Given the description of an element on the screen output the (x, y) to click on. 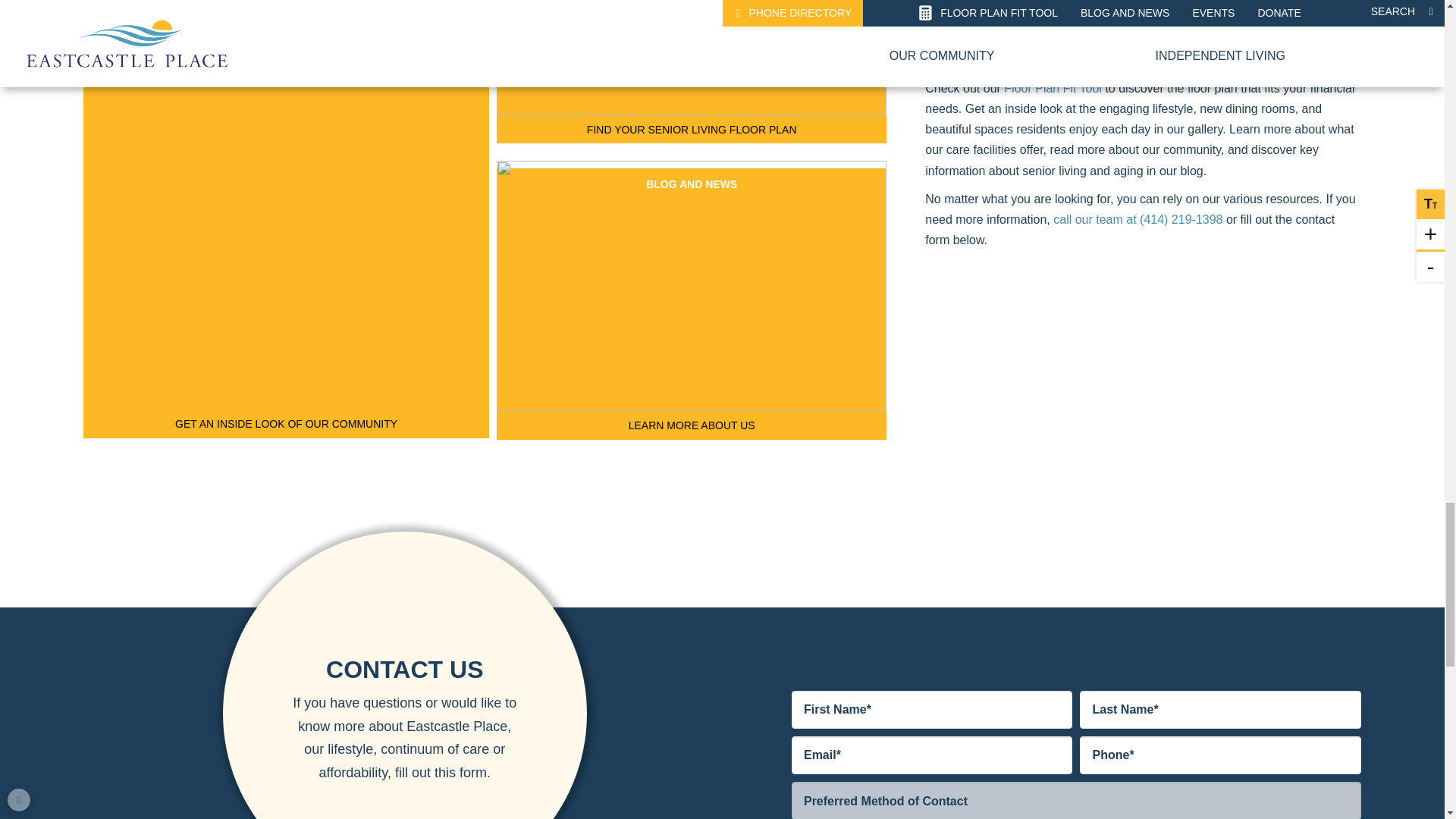
Floor Plan Fit Tool (1053, 88)
Floor Plan Fit Tool (1053, 88)
